Given the description of an element on the screen output the (x, y) to click on. 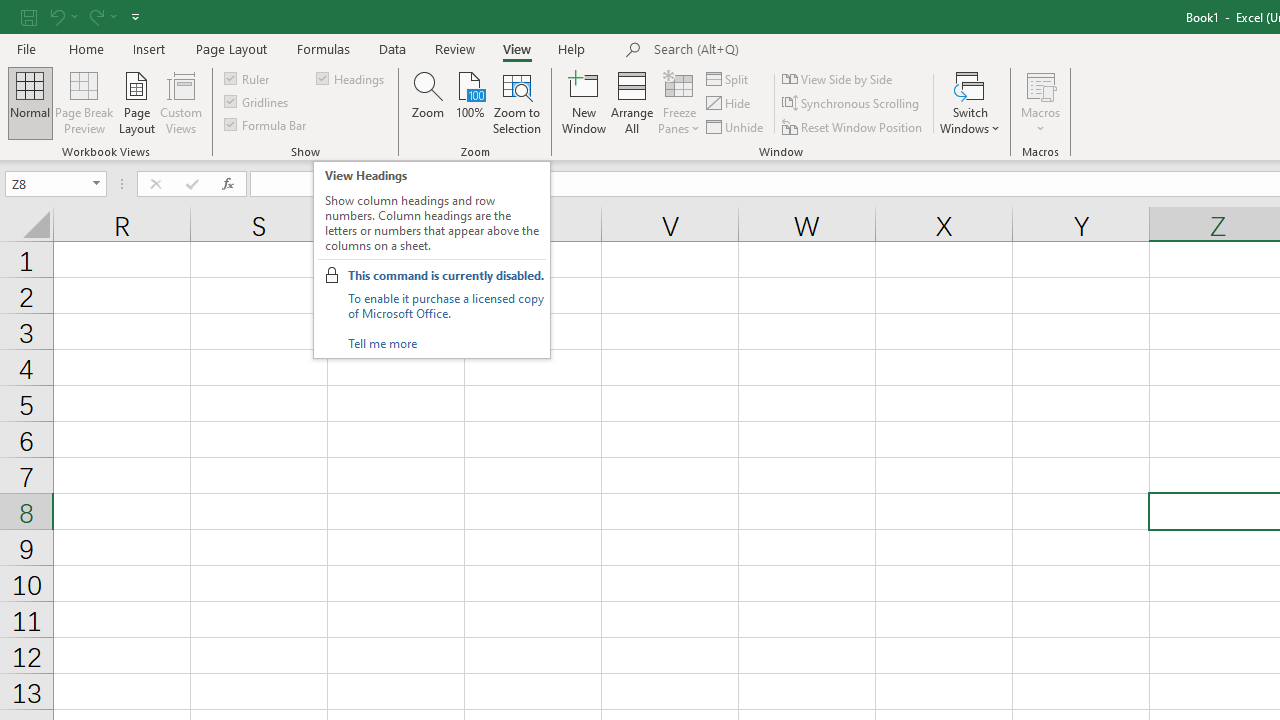
Custom Views... (180, 102)
This command is currently disabled. (445, 275)
Unhide... (736, 126)
